Given the description of an element on the screen output the (x, y) to click on. 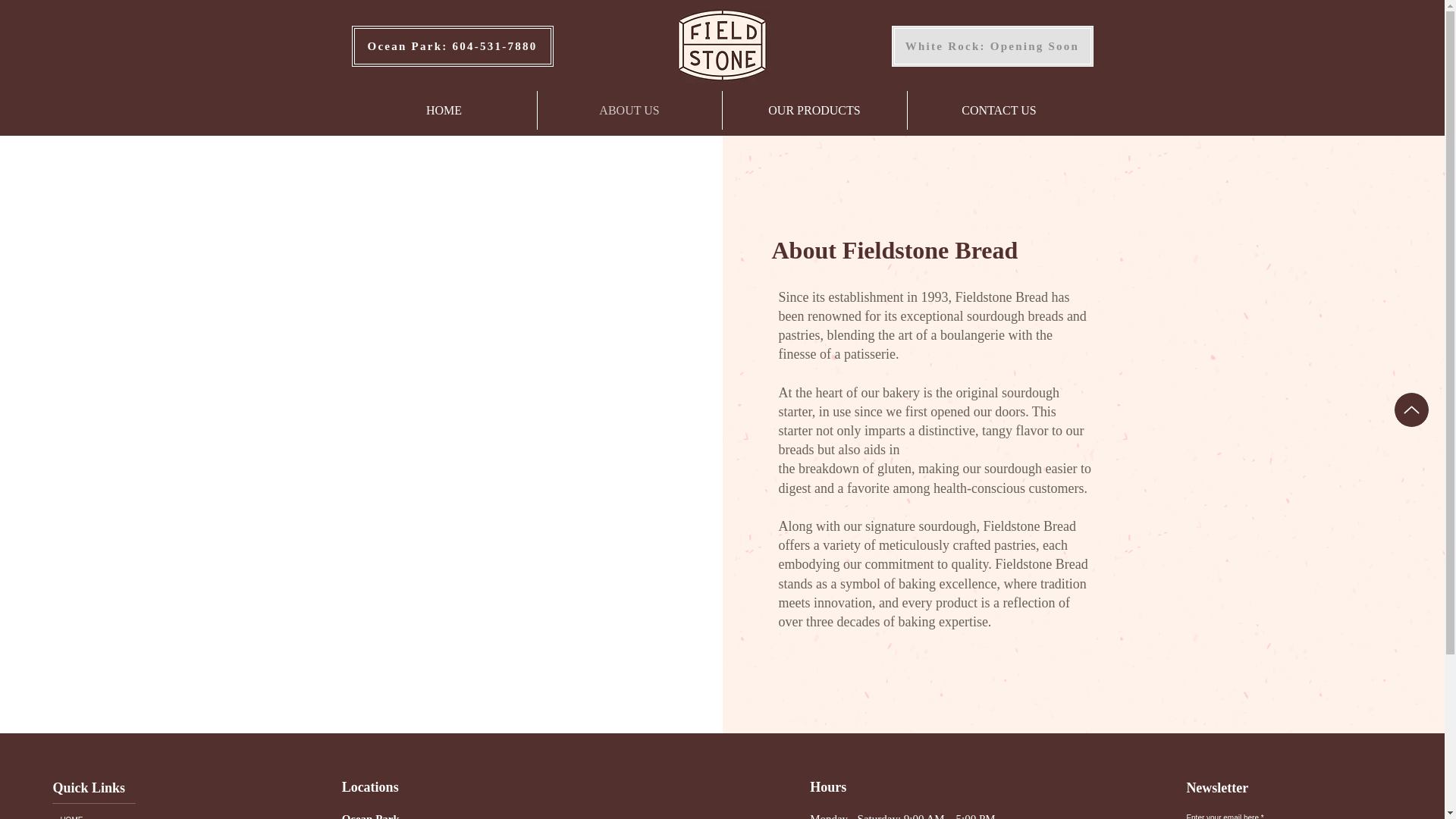
White Rock: Opening Soon (992, 45)
ABOUT US (628, 109)
CONTACT US (998, 109)
HOME (444, 109)
Ocean Park: 604-531-7880 (452, 45)
HOME (93, 811)
